Given the description of an element on the screen output the (x, y) to click on. 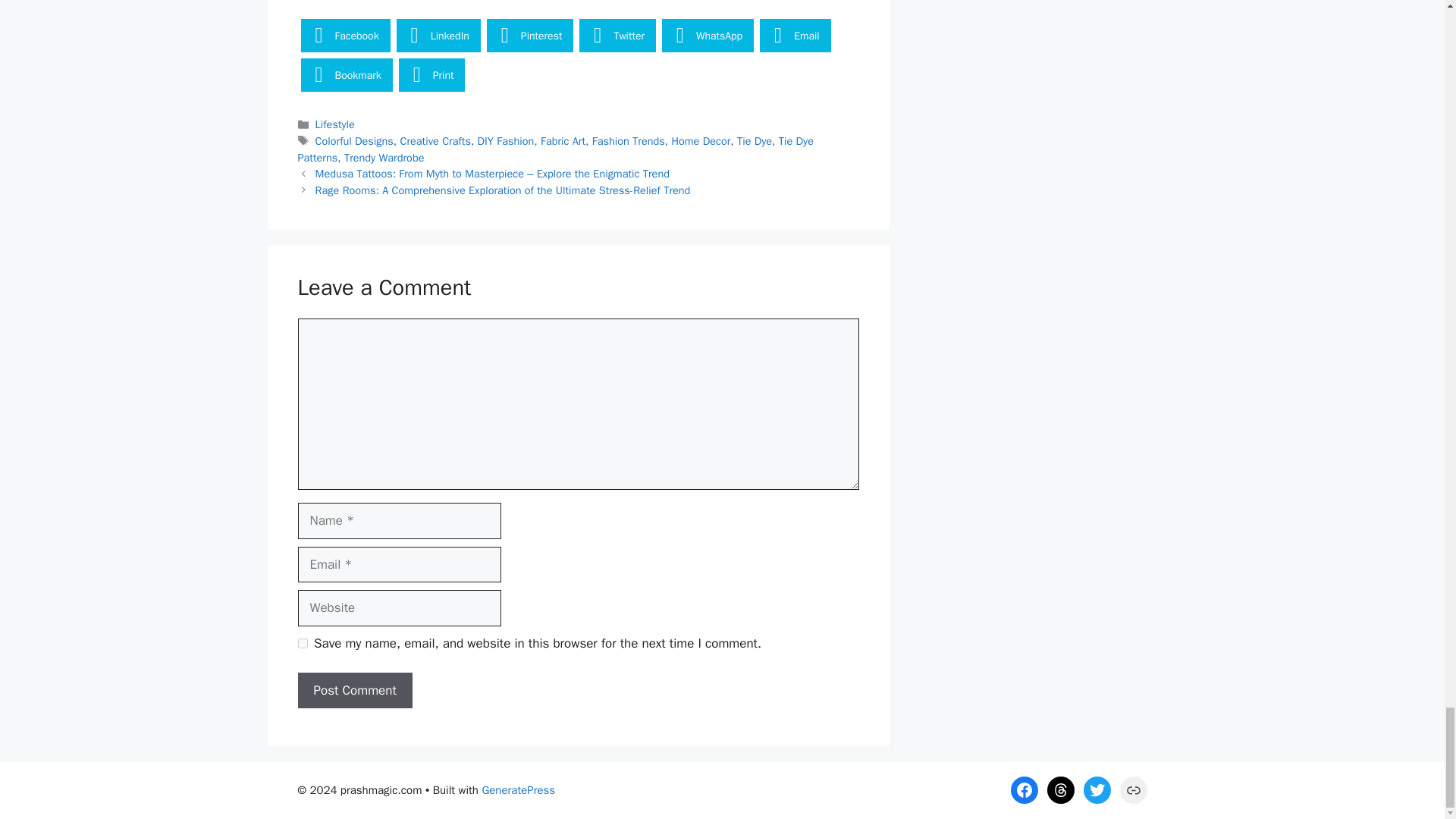
WhatsApp (708, 35)
Tie Dye Patterns (554, 149)
Twitter (617, 35)
Share this article on Facebook (344, 35)
Tie Dye (753, 141)
yes (302, 643)
Share this article on LinkedIn (438, 35)
Share this article on Twitter (617, 35)
Trendy Wardrobe (384, 157)
Fabric Art (562, 141)
Share an image of this article on Pinterest (529, 35)
Bookmark (345, 74)
Fashion Trends (628, 141)
Share this article on WhatsApp (708, 35)
